Given the description of an element on the screen output the (x, y) to click on. 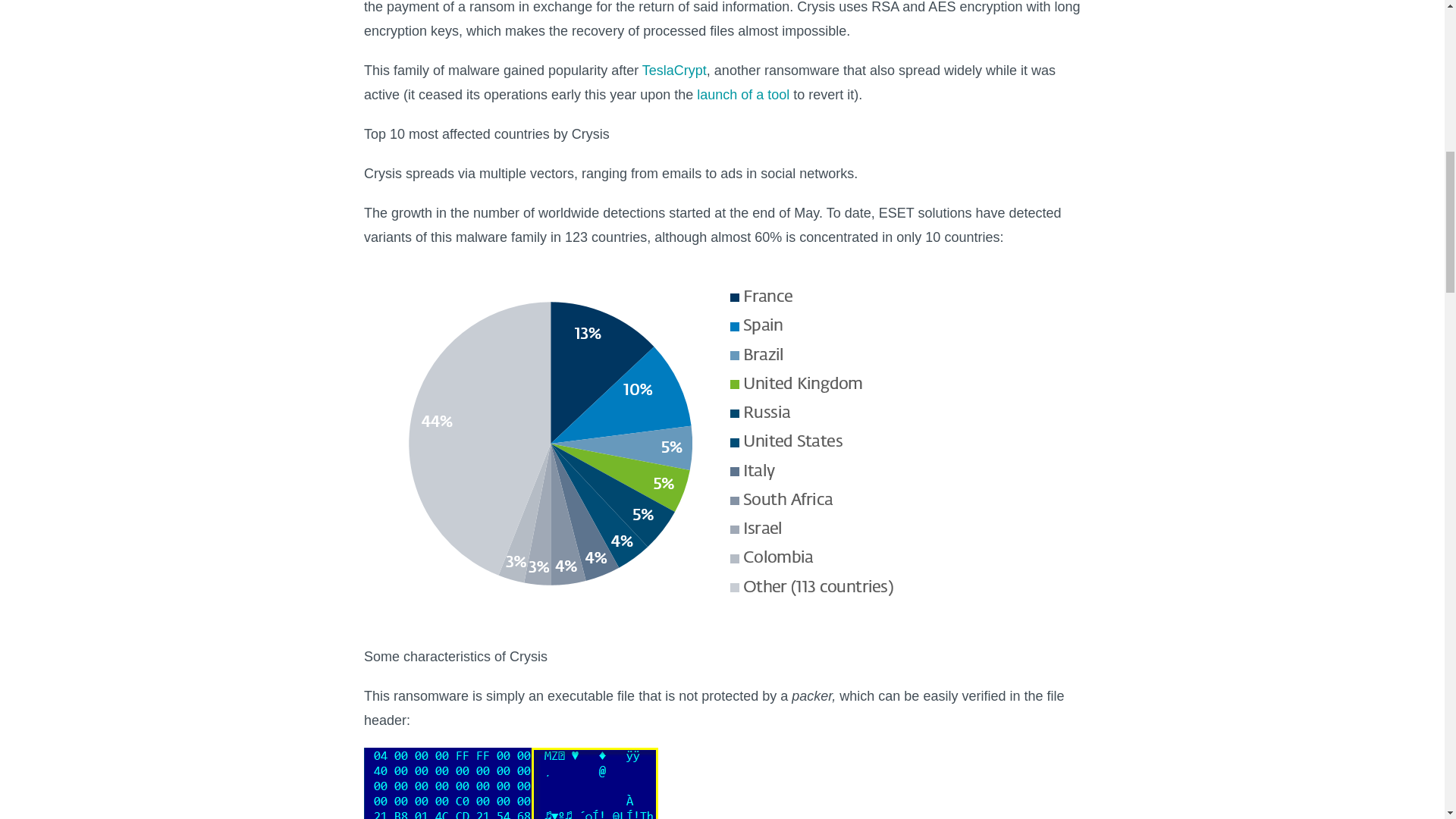
launch of a tool (743, 94)
TeslaCrypt (674, 70)
